Given the description of an element on the screen output the (x, y) to click on. 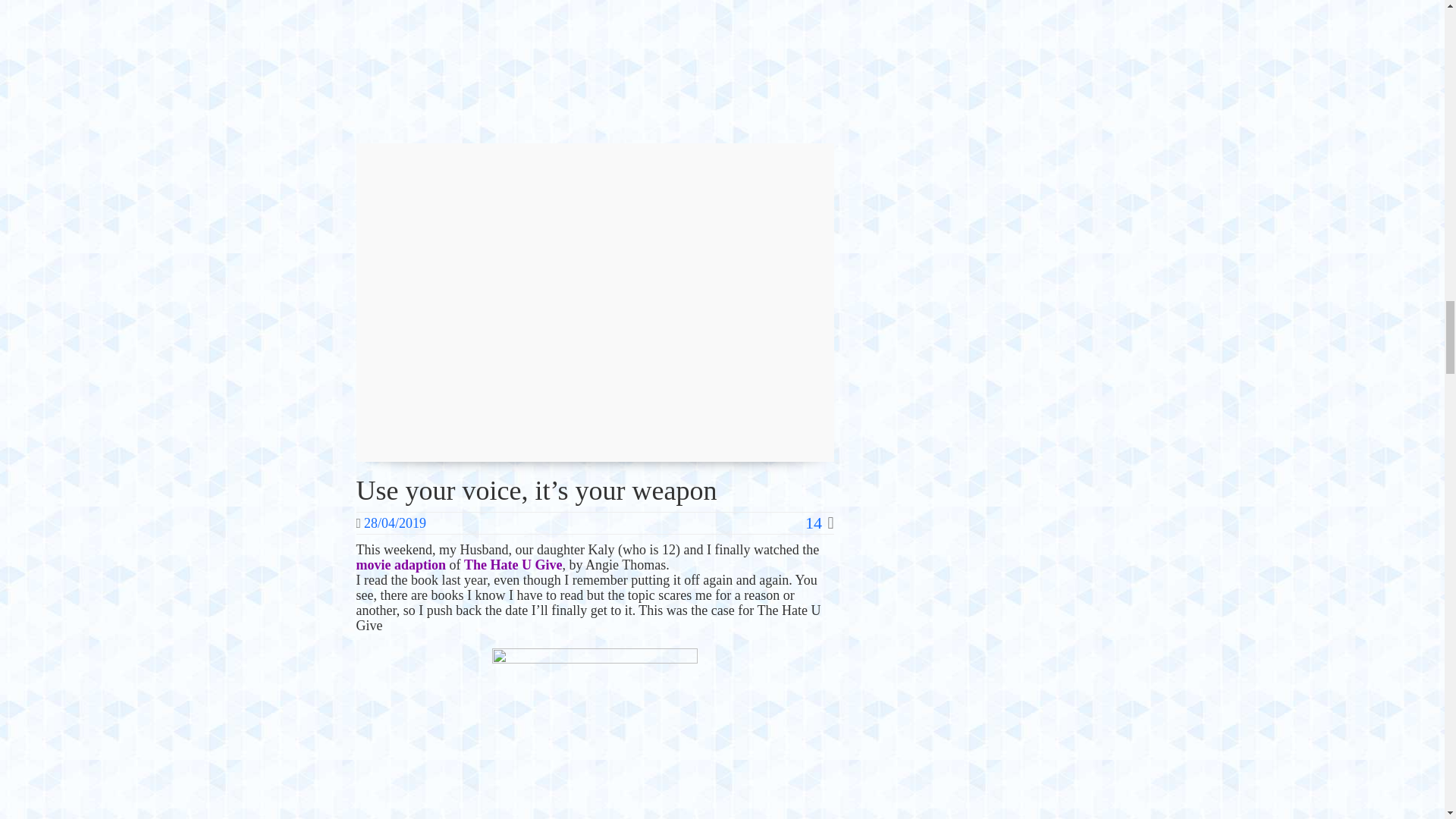
14 (819, 522)
movie adaption (401, 564)
The Hate U Give (513, 564)
